Given the description of an element on the screen output the (x, y) to click on. 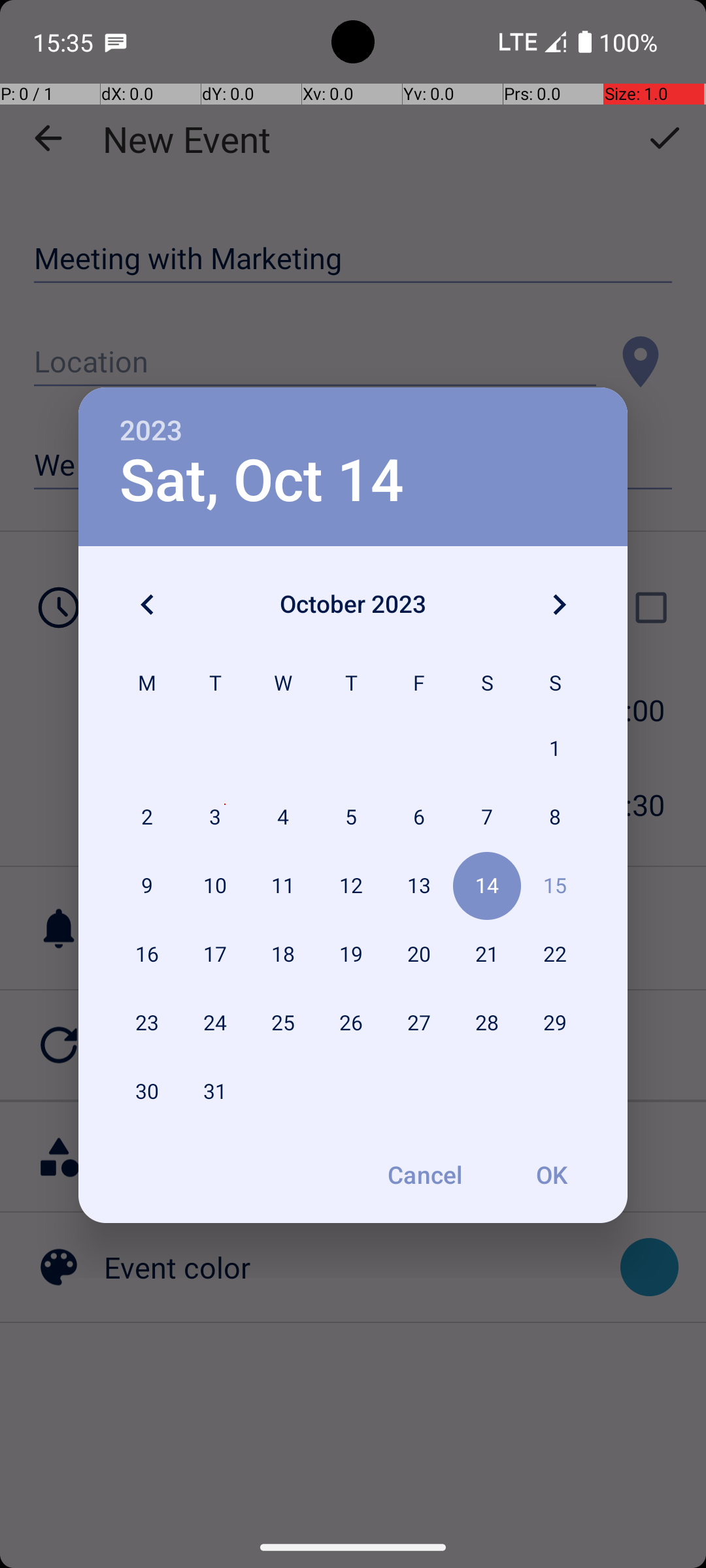
Sat, Oct 14 Element type: android.widget.TextView (261, 480)
